Given the description of an element on the screen output the (x, y) to click on. 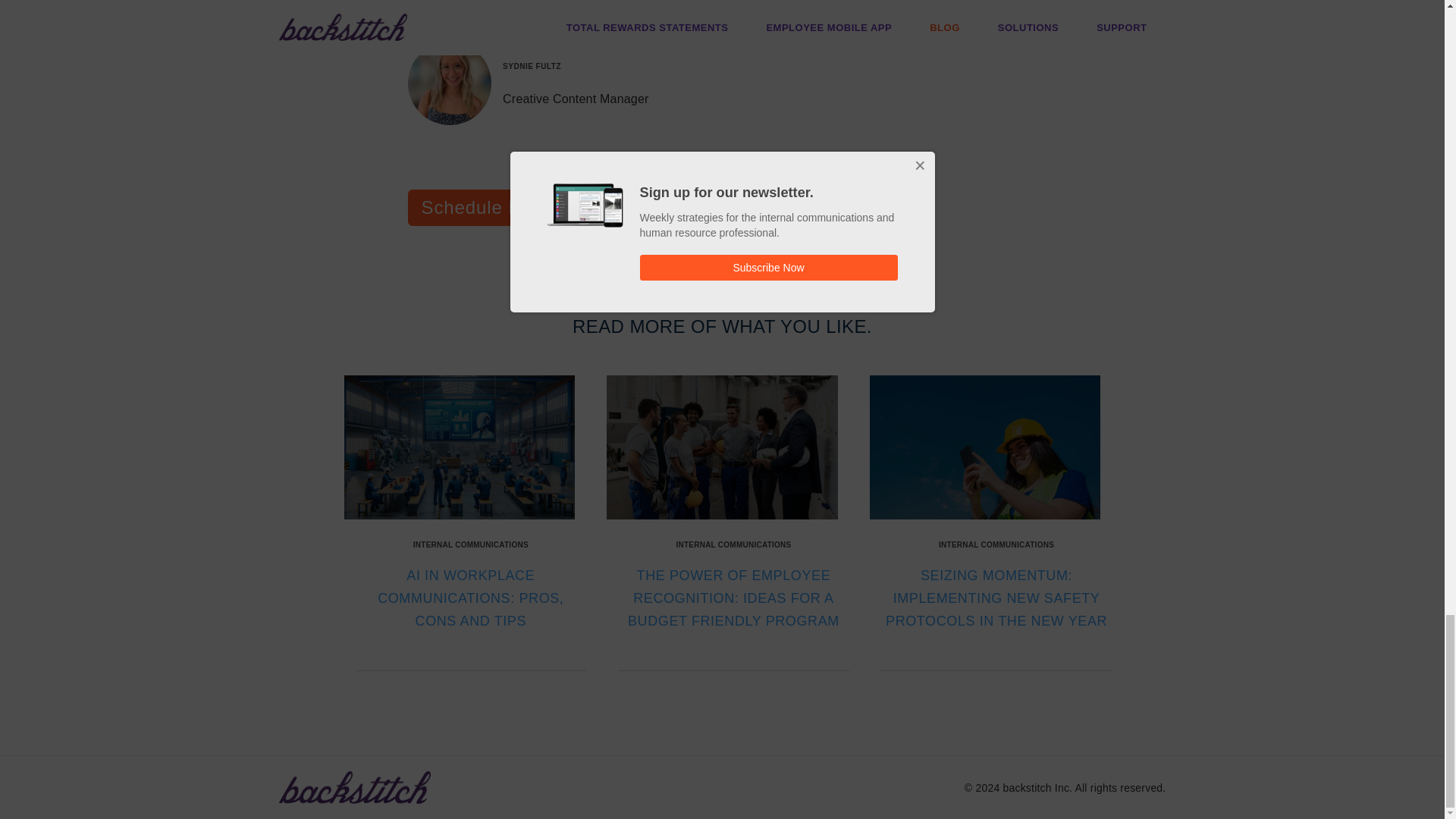
backstitch logo in purple (354, 787)
Schedule Demo (490, 207)
